Given the description of an element on the screen output the (x, y) to click on. 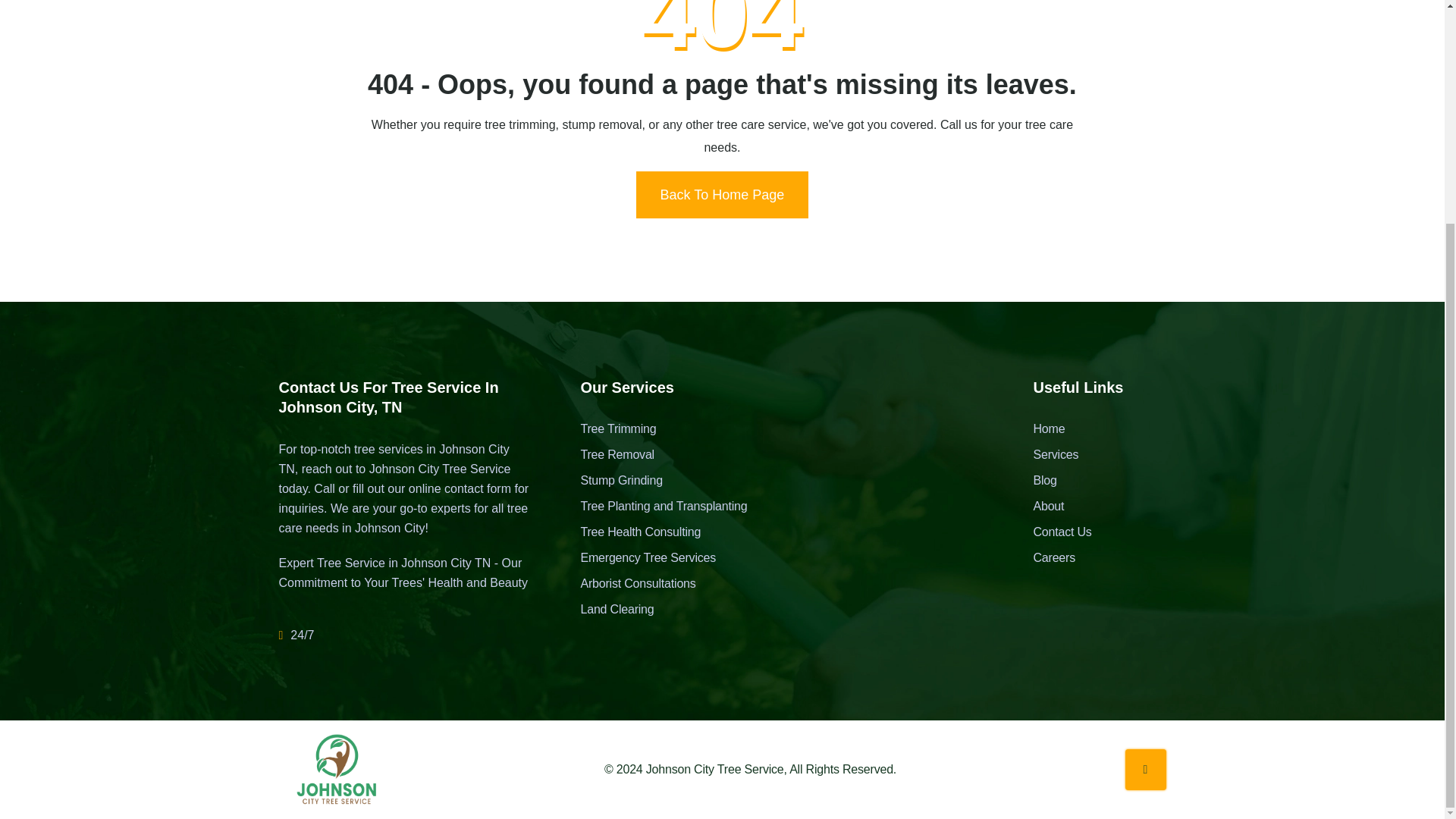
Tree Health Consulting (662, 532)
Careers (1061, 557)
Tree Removal (662, 454)
Emergency Tree Services (662, 557)
Arborist Consultations (662, 583)
Contact Us (1061, 532)
Services (1061, 454)
Blog (1061, 480)
Stump Grinding (662, 480)
Land Clearing (662, 609)
Home (1061, 429)
About (1061, 506)
Back To Home Page (722, 194)
Tree Planting and Transplanting (662, 506)
online contact form (460, 488)
